Given the description of an element on the screen output the (x, y) to click on. 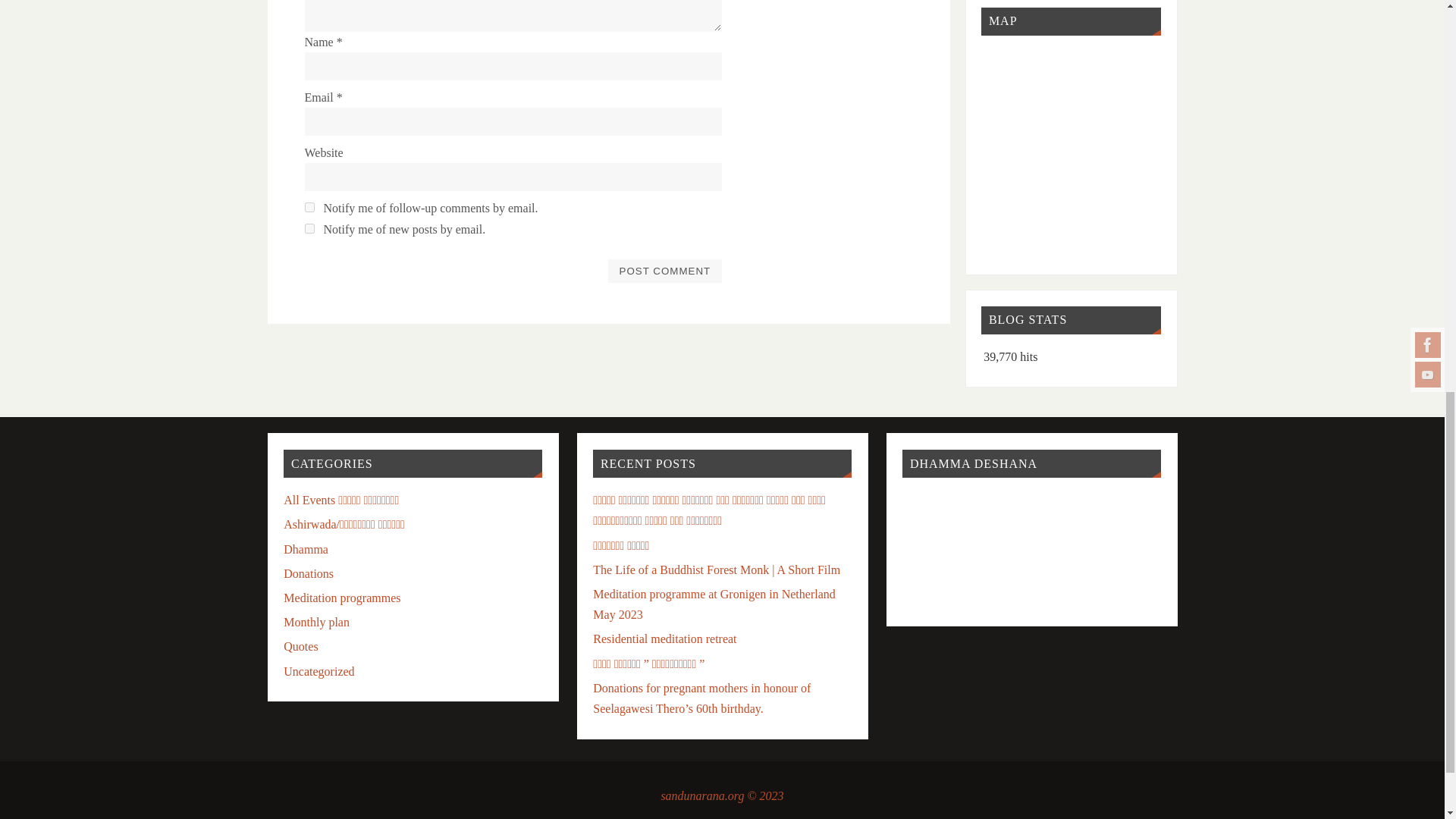
subscribe (309, 228)
Post Comment (664, 270)
subscribe (309, 207)
Post Comment (664, 270)
